Given the description of an element on the screen output the (x, y) to click on. 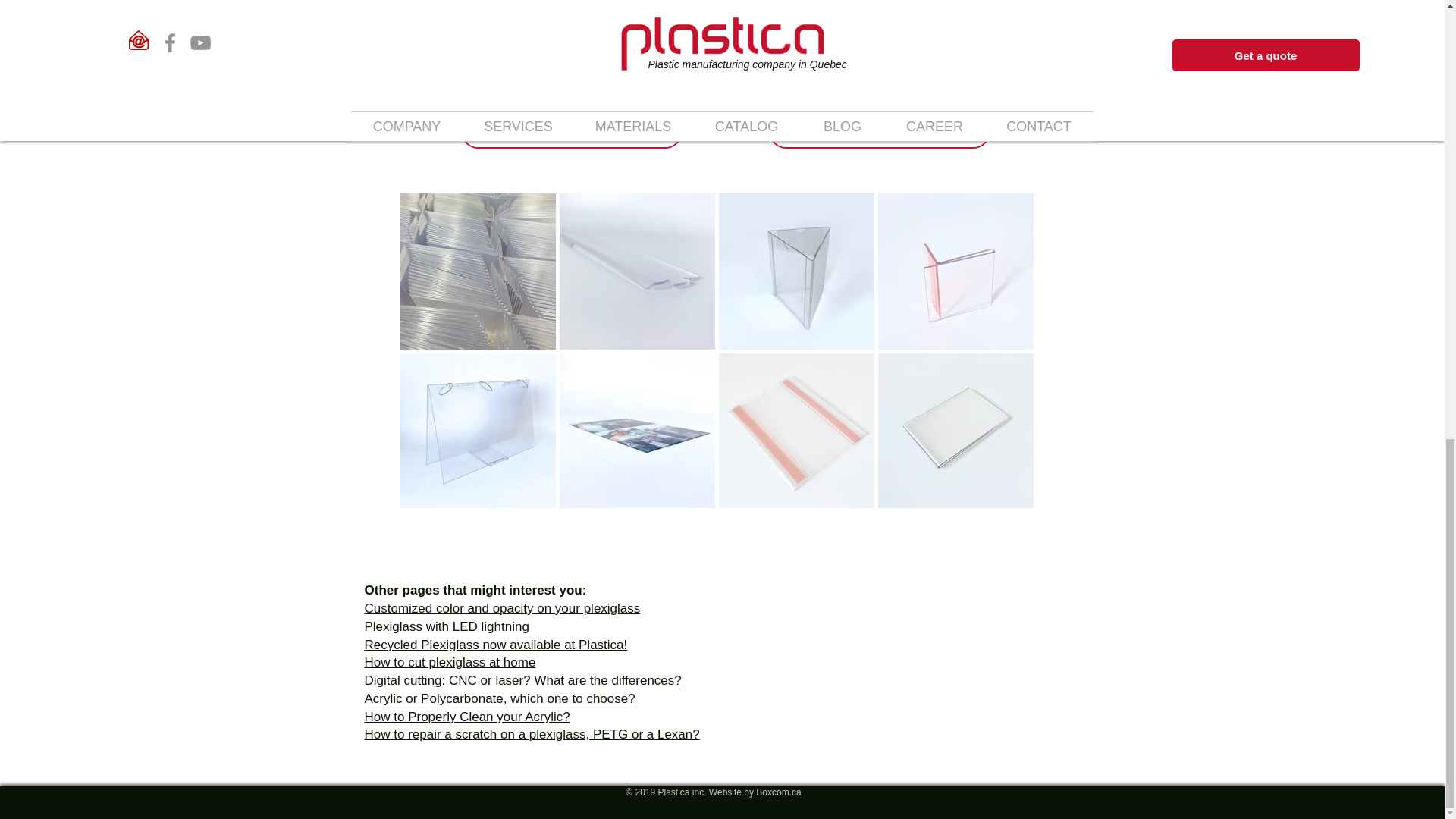
Digital cutting: CNC or laser? What are the differences? (522, 680)
How to cut plexiglass at home (449, 662)
Plastic finishes guide (878, 132)
Recycled Plexiglass now available at Plastica! (495, 644)
Customized color and opacity on your plexiglass (502, 608)
Plexiglass with LED lightning (446, 626)
Products weigth (571, 132)
Acrylic or Polycarbonate, which one to choose? (499, 698)
